Given the description of an element on the screen output the (x, y) to click on. 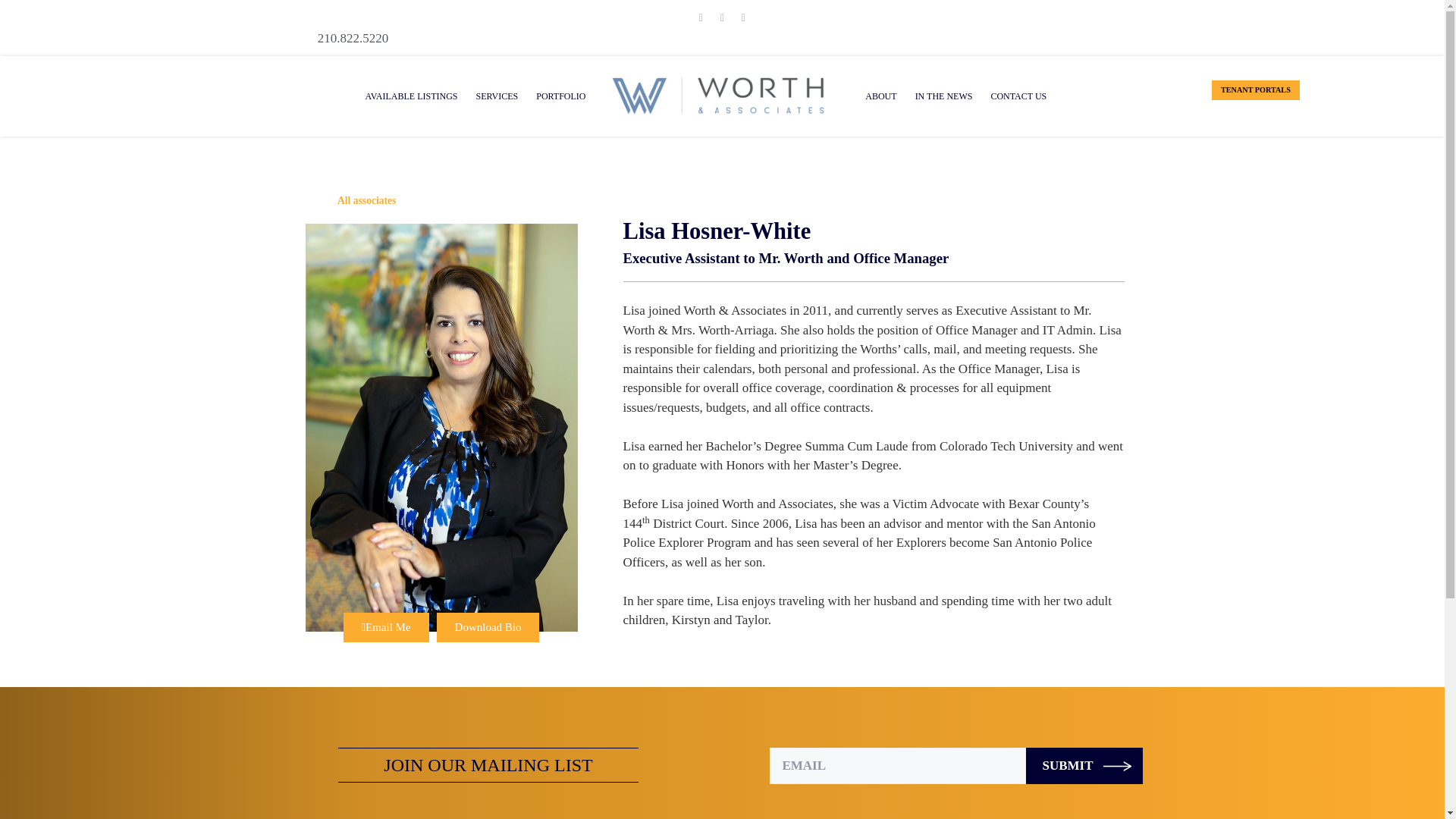
PORTFOLIO (560, 95)
210.822.5220 (722, 38)
Submit (1083, 765)
CONTACT US (1018, 95)
AVAILABLE LISTINGS (411, 95)
SERVICES (496, 95)
IN THE NEWS (943, 95)
ABOUT (880, 95)
